Given the description of an element on the screen output the (x, y) to click on. 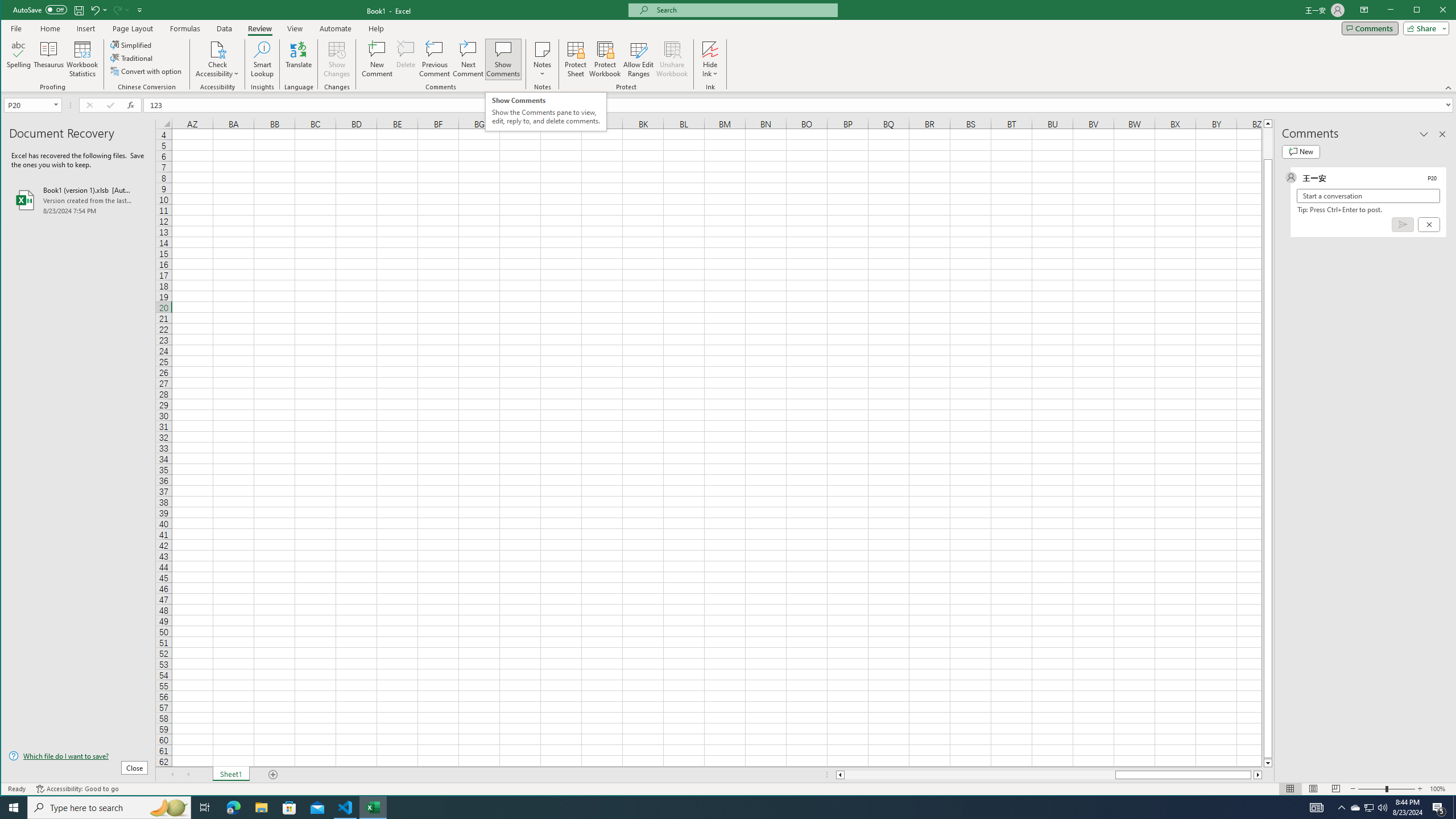
Excel - 1 running window (373, 807)
Page up (1267, 142)
